Given the description of an element on the screen output the (x, y) to click on. 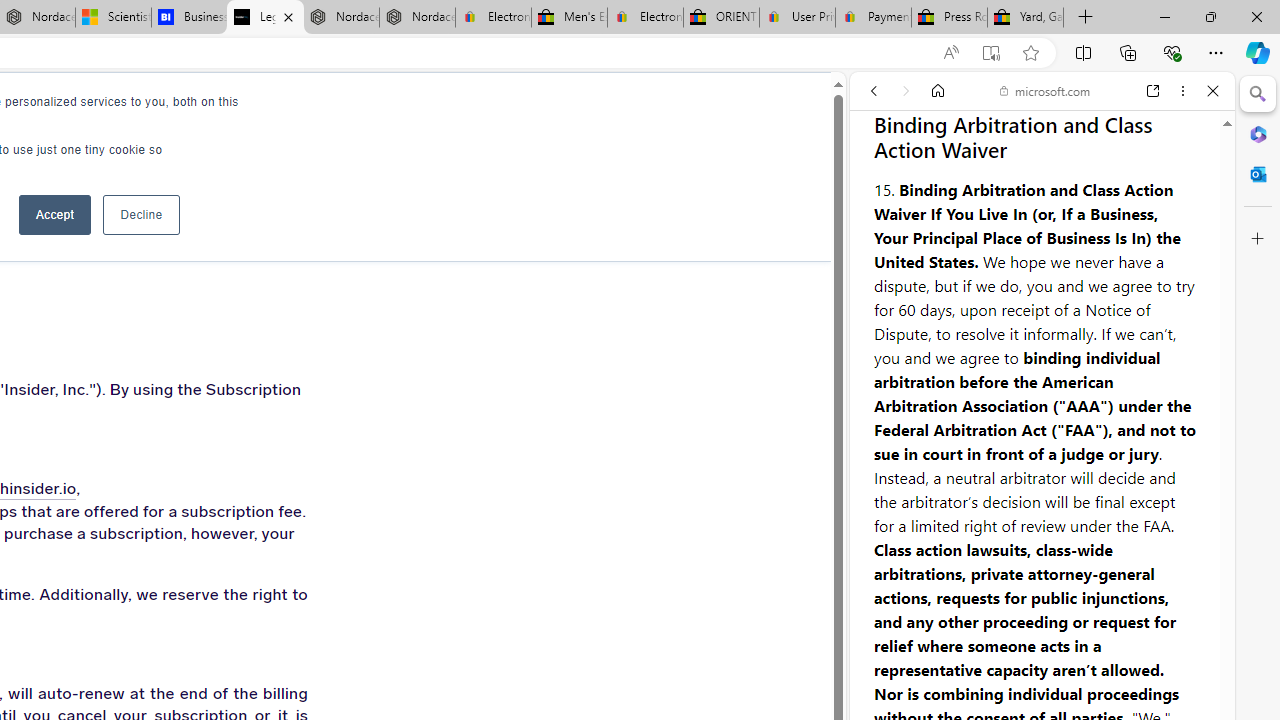
This site scope (936, 180)
CONTACT US (377, 110)
Nordace - Summer Adventures 2024 (340, 17)
